Given the description of an element on the screen output the (x, y) to click on. 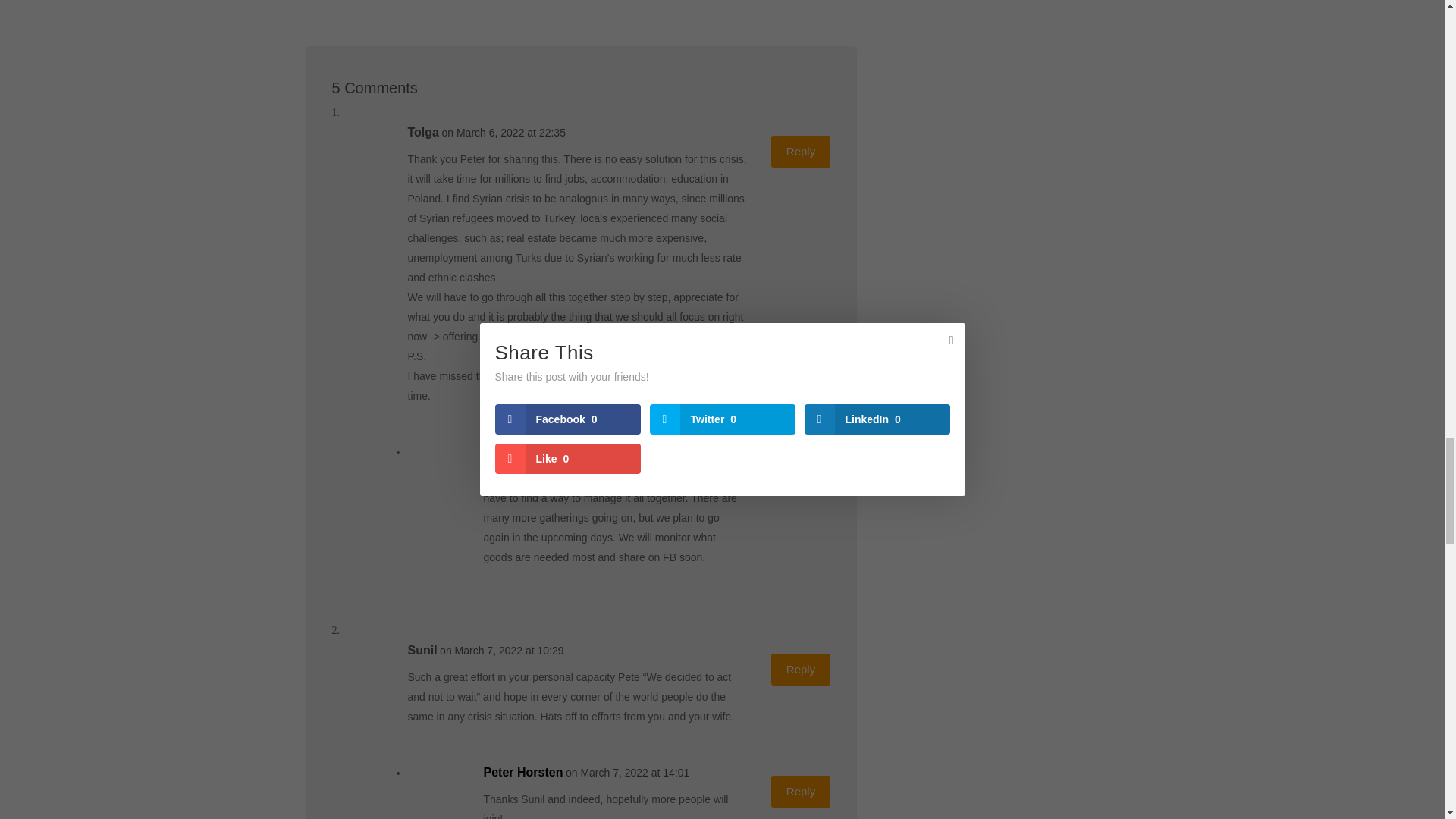
Reply (800, 470)
Reply (800, 791)
Reply (800, 669)
Peter Horsten (523, 451)
Reply (800, 151)
Peter Horsten (523, 772)
